Given the description of an element on the screen output the (x, y) to click on. 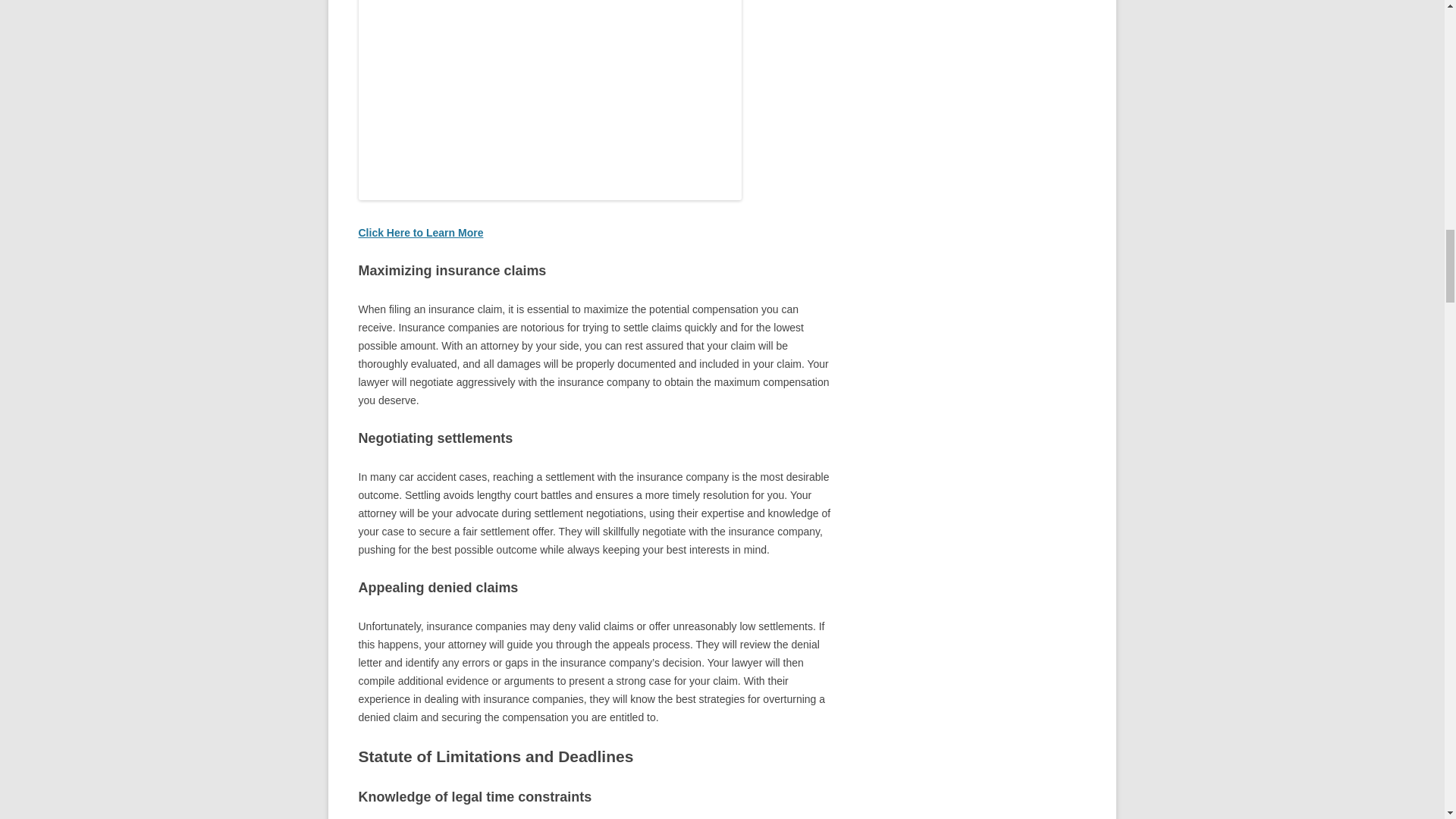
Click Here to Learn More (420, 232)
Should You Get A Lawyer After Car Accident (549, 99)
Learn more about the Click Here to Learn More here. (420, 232)
